Given the description of an element on the screen output the (x, y) to click on. 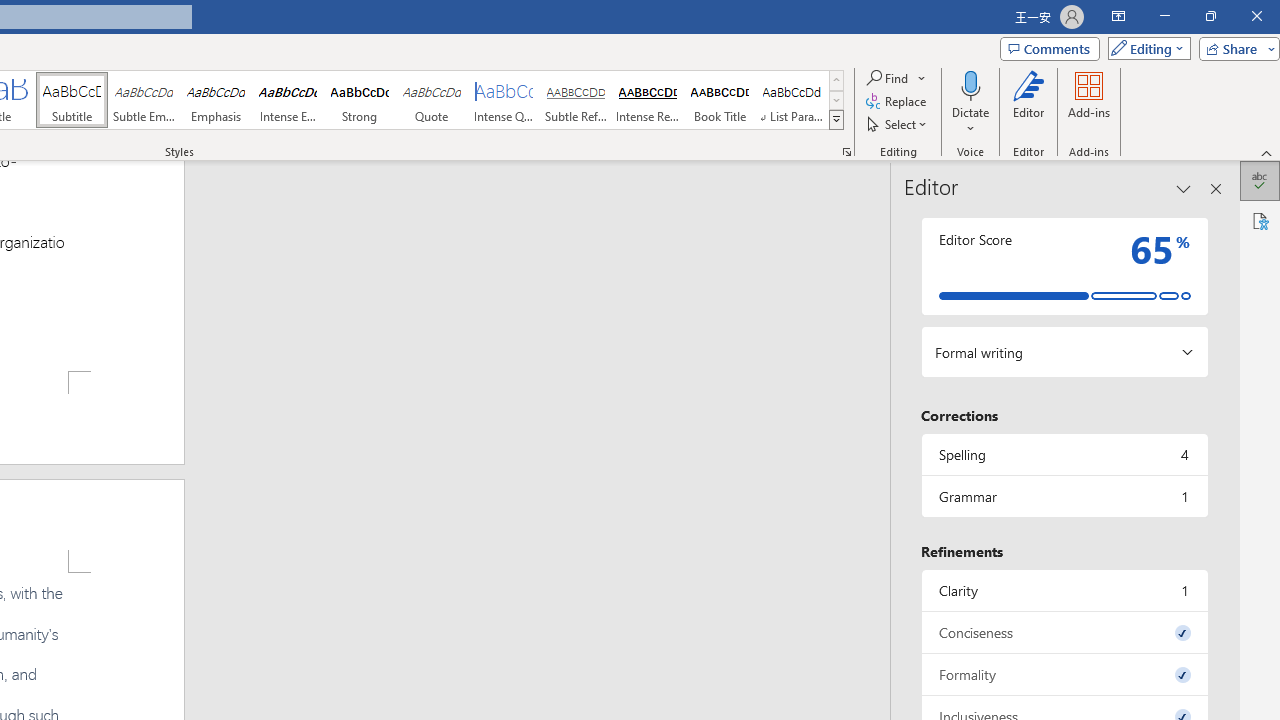
Clarity, 1 issue. Press space or enter to review items. (1064, 590)
Editor Score 65% (1064, 266)
Replace... (897, 101)
Styles... (846, 151)
Emphasis (216, 100)
Intense Quote (504, 100)
Intense Emphasis (287, 100)
Quote (431, 100)
Subtitle (71, 100)
Select (898, 124)
